Given the description of an element on the screen output the (x, y) to click on. 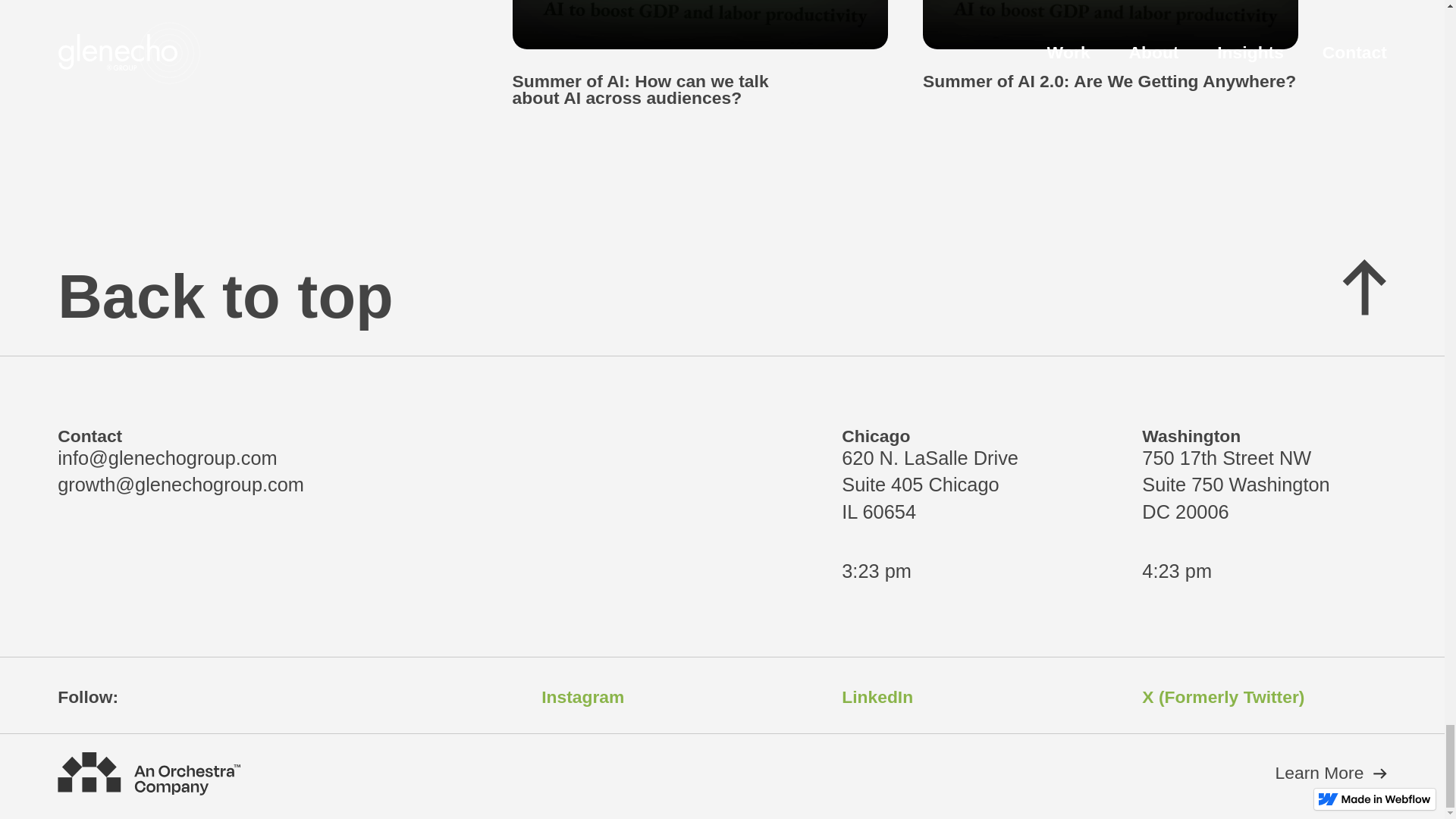
LinkedIn (876, 696)
Back to top (722, 296)
Summer of AI: How can we talk about AI across audiences? (706, 53)
Summer of AI 2.0: Are We Getting Anywhere? (1117, 45)
Instagram (582, 696)
Back to top (722, 296)
